Given the description of an element on the screen output the (x, y) to click on. 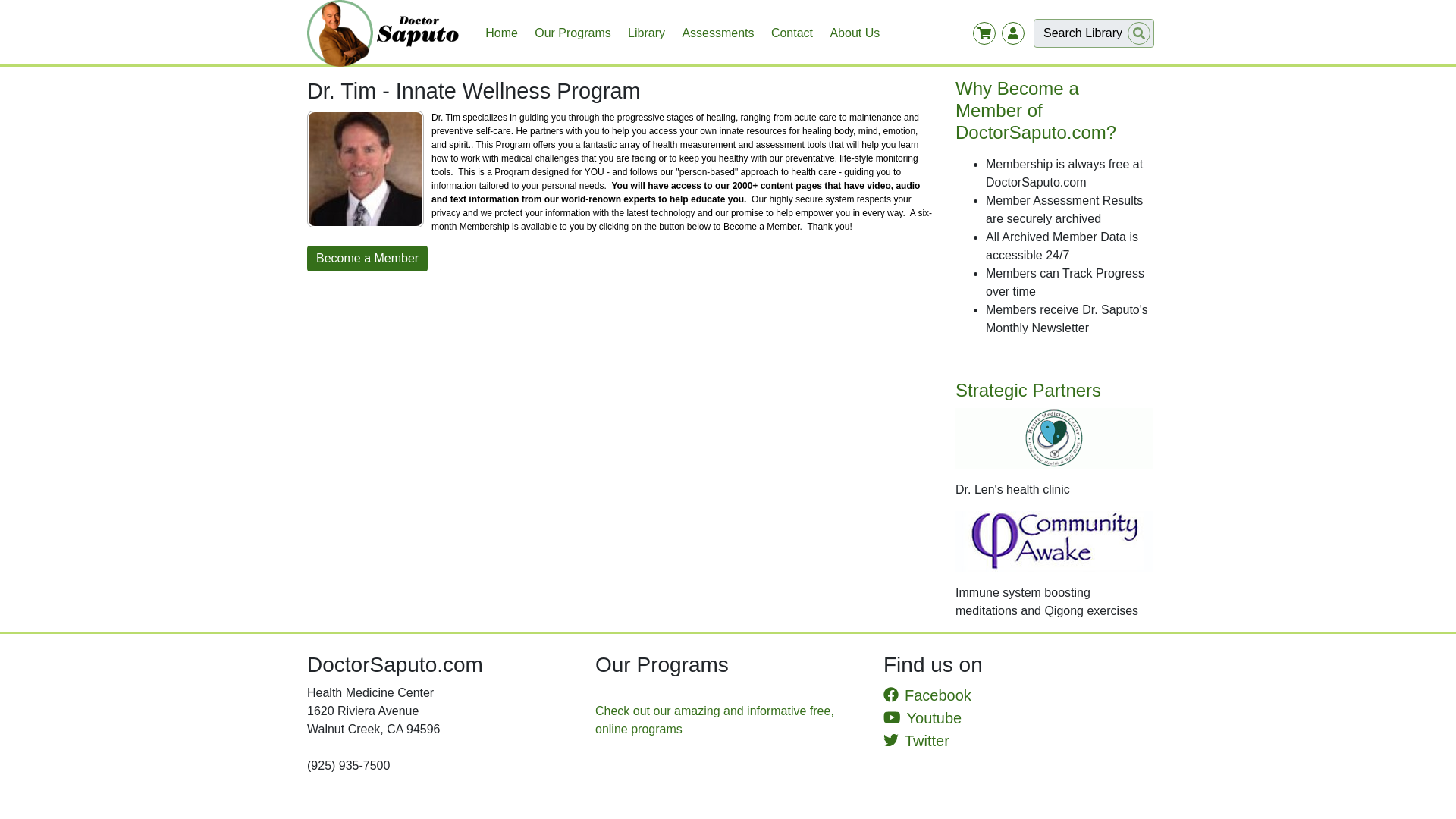
Facebook (927, 695)
About Us (854, 33)
Strategic Partners (1051, 411)
Contact (792, 33)
Our Programs (572, 33)
Check out our amazing and informative free, online programs (714, 719)
Assessments (717, 33)
Home (501, 33)
Library (646, 33)
Become a Member (367, 258)
Twitter (916, 740)
Why Become a Member of DoctorSaputo.com? (1051, 110)
Youtube (921, 718)
